Given the description of an element on the screen output the (x, y) to click on. 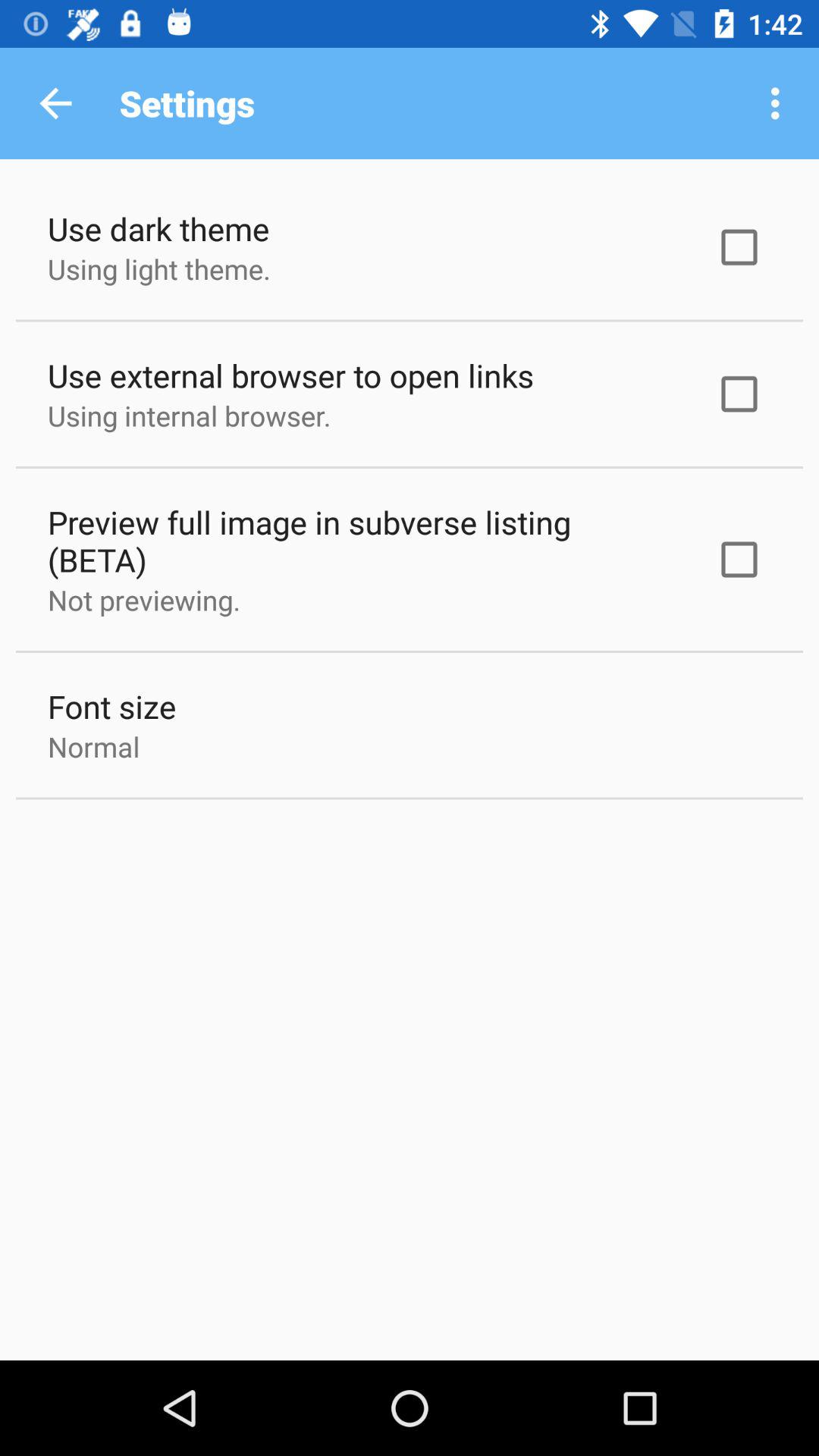
open icon below the use external browser item (189, 415)
